Given the description of an element on the screen output the (x, y) to click on. 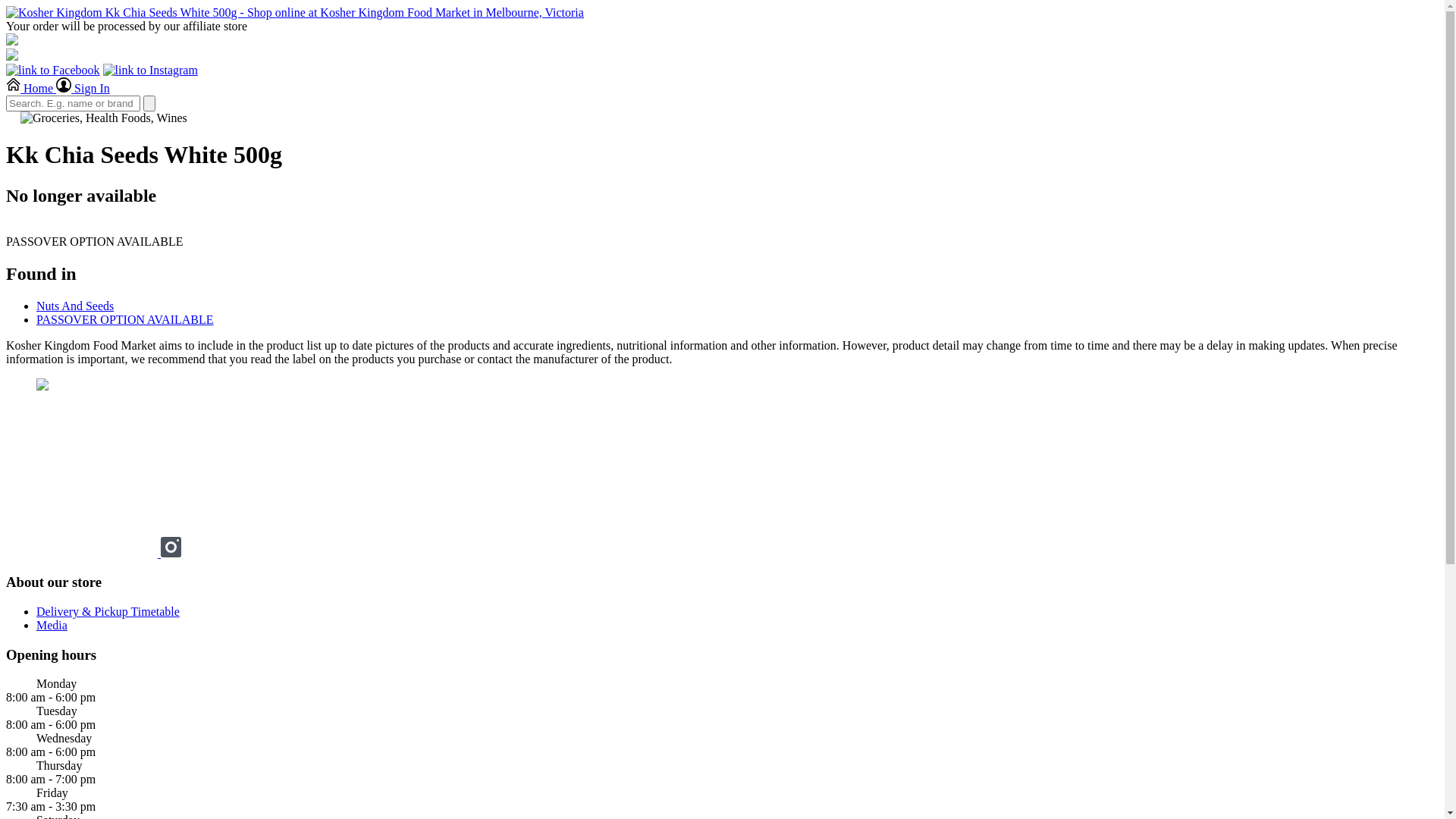
PASSOVER OPTION AVAILABLE Element type: text (124, 319)
Home Element type: text (31, 87)
Facebook Element type: hover (83, 552)
Media Element type: text (51, 624)
Search Element type: hover (149, 103)
Nuts And Seeds Element type: text (74, 305)
Delivery & Pickup Timetable Element type: text (107, 611)
Sign In Element type: text (82, 87)
Instagram kosherkingdomfoodmarket Element type: hover (170, 552)
